Given the description of an element on the screen output the (x, y) to click on. 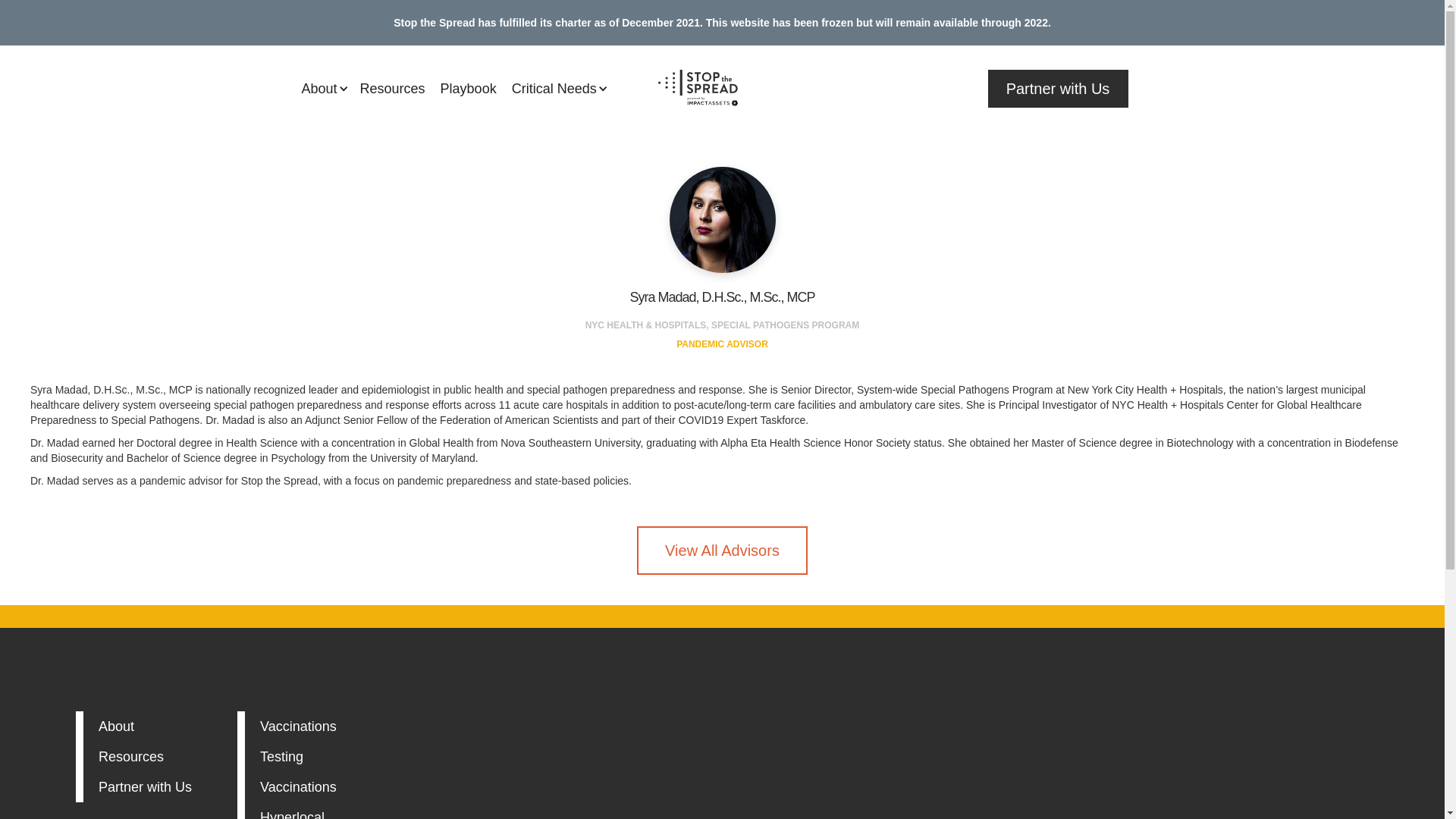
Playbook (467, 88)
Vaccinations (307, 726)
Testing (307, 814)
Vaccinations (307, 756)
Resources (307, 786)
Partner with Us (145, 756)
About (145, 786)
Resources (145, 726)
View All Advisors (392, 88)
Partner with Us (722, 550)
